Given the description of an element on the screen output the (x, y) to click on. 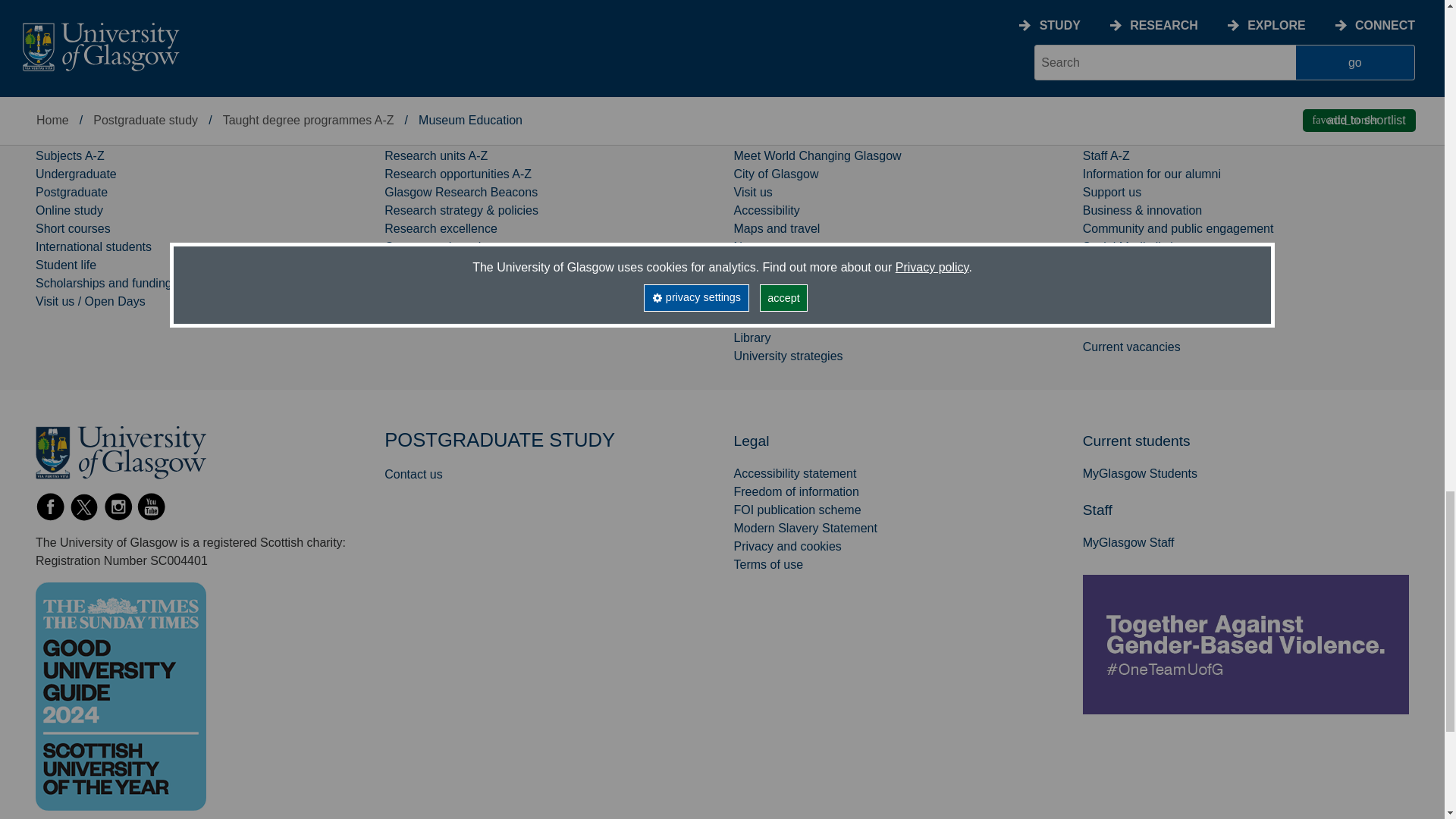
Postgraduate (70, 192)
STUDY (59, 123)
Subjects A-Z (69, 155)
Online study (68, 210)
International students (92, 246)
Undergraduate (75, 173)
Short courses (72, 228)
Student life (65, 264)
